Given the description of an element on the screen output the (x, y) to click on. 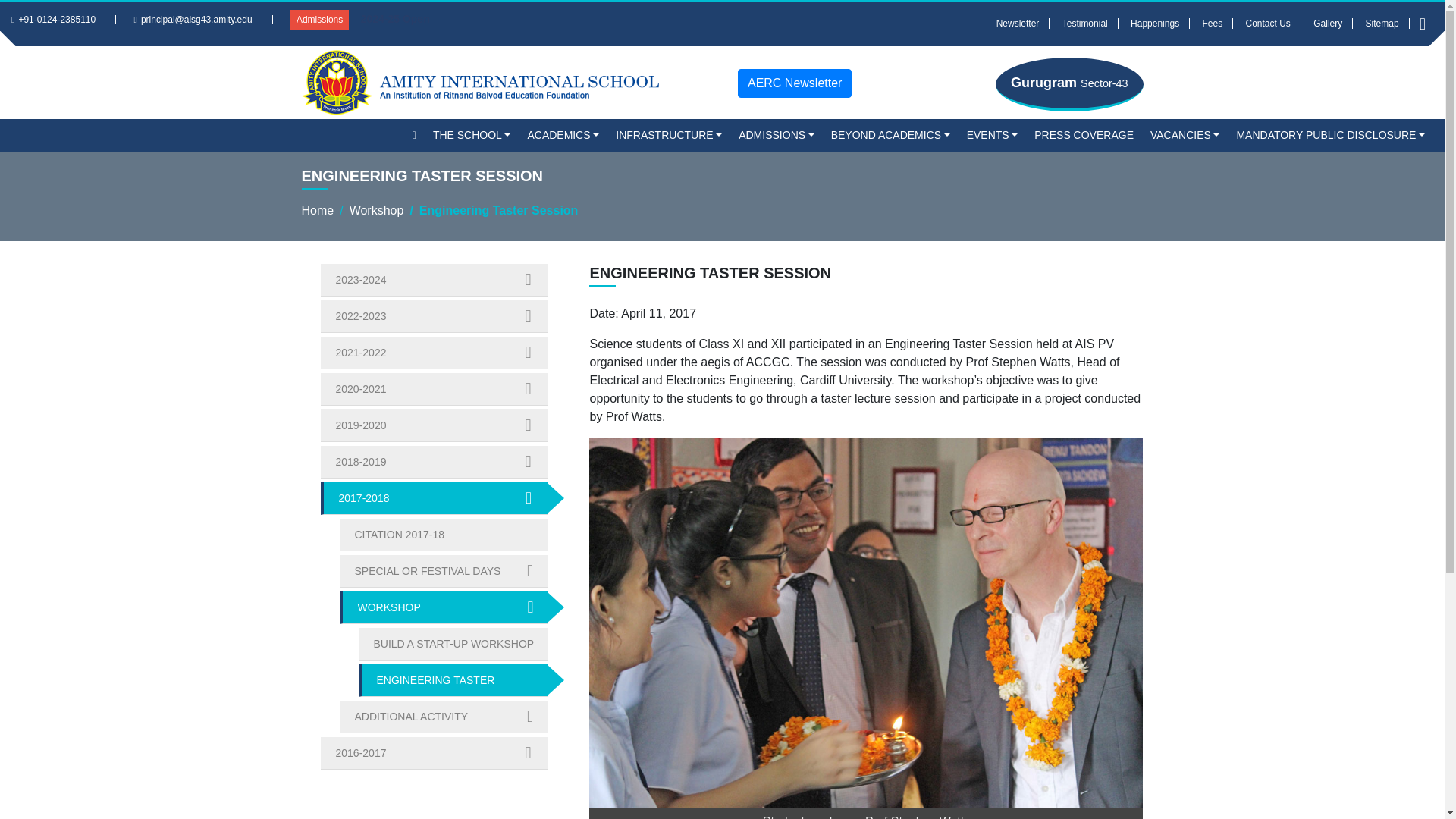
Contact Us (1268, 23)
Sitemap (1382, 23)
Gallery (1327, 23)
Testimonial (1085, 23)
Happenings (1155, 23)
AERC Newsletter (794, 82)
Newsletter (1018, 23)
THE SCHOOL (471, 134)
Admissions (319, 19)
ACADEMICS (563, 134)
Fees (1212, 23)
